Given the description of an element on the screen output the (x, y) to click on. 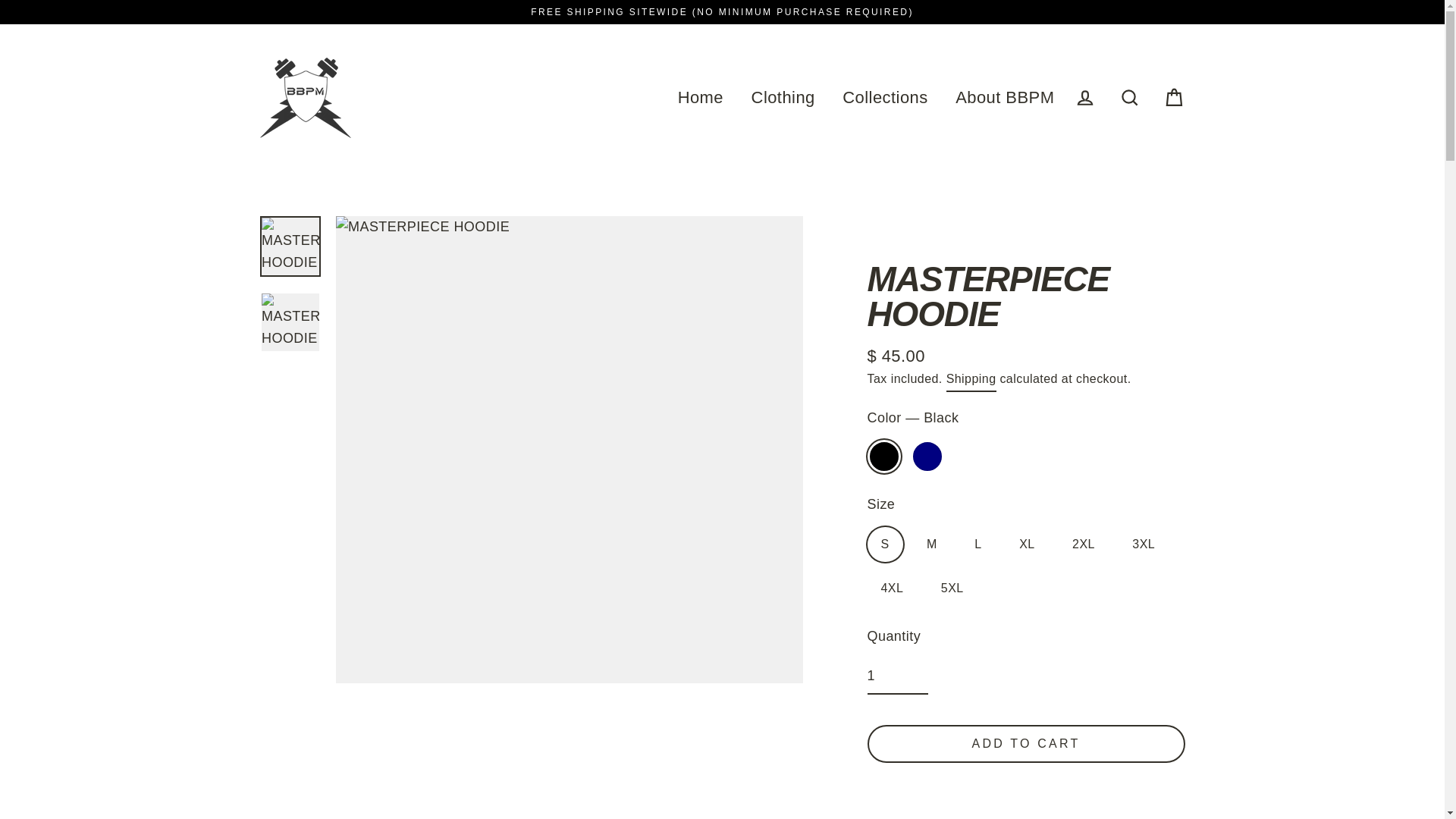
Home (700, 96)
1 (897, 676)
